Given the description of an element on the screen output the (x, y) to click on. 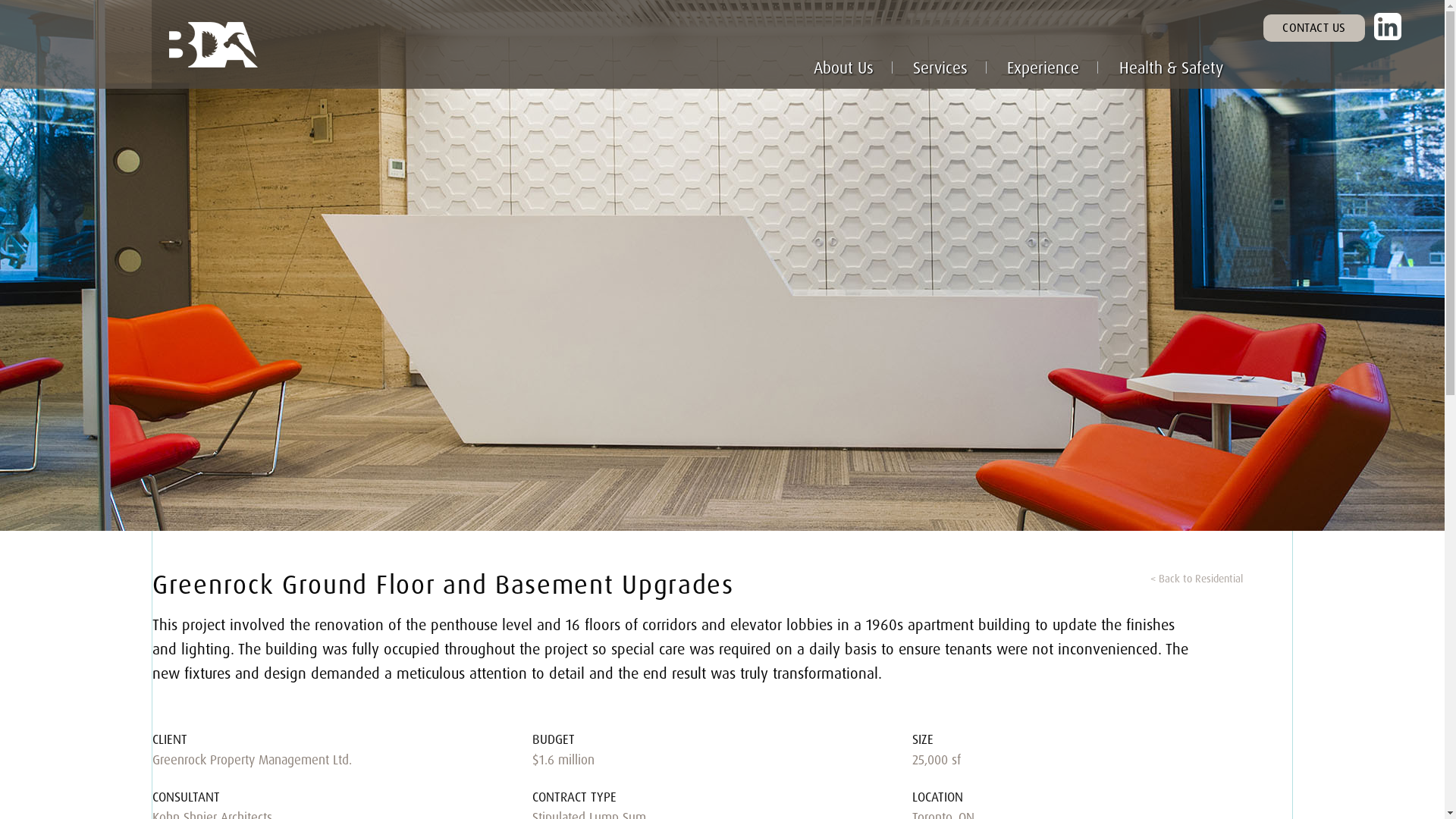
Experience Element type: text (1042, 67)
Residential Element type: text (1196, 577)
BDA Element type: hover (310, 43)
Health & Safety Element type: text (1170, 67)
  Element type: text (1387, 26)
CONTACT US Element type: text (1314, 27)
Services Element type: text (940, 67)
About Us Element type: text (843, 67)
